Given the description of an element on the screen output the (x, y) to click on. 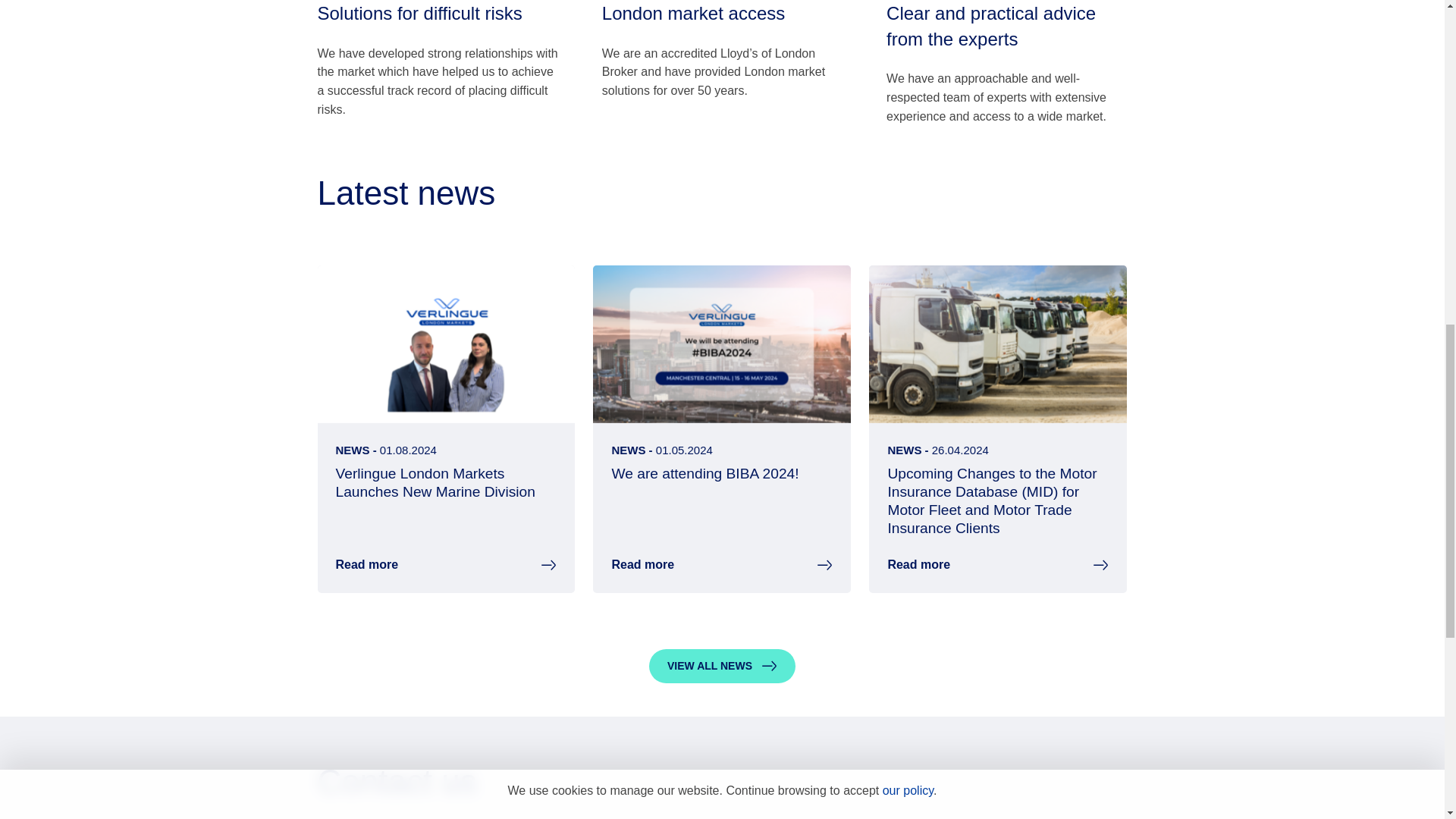
Read more (365, 565)
We are attending BIBA 2024! (704, 473)
Read more (642, 565)
Verlingue London Markets Launches New Marine Division (434, 482)
